Given the description of an element on the screen output the (x, y) to click on. 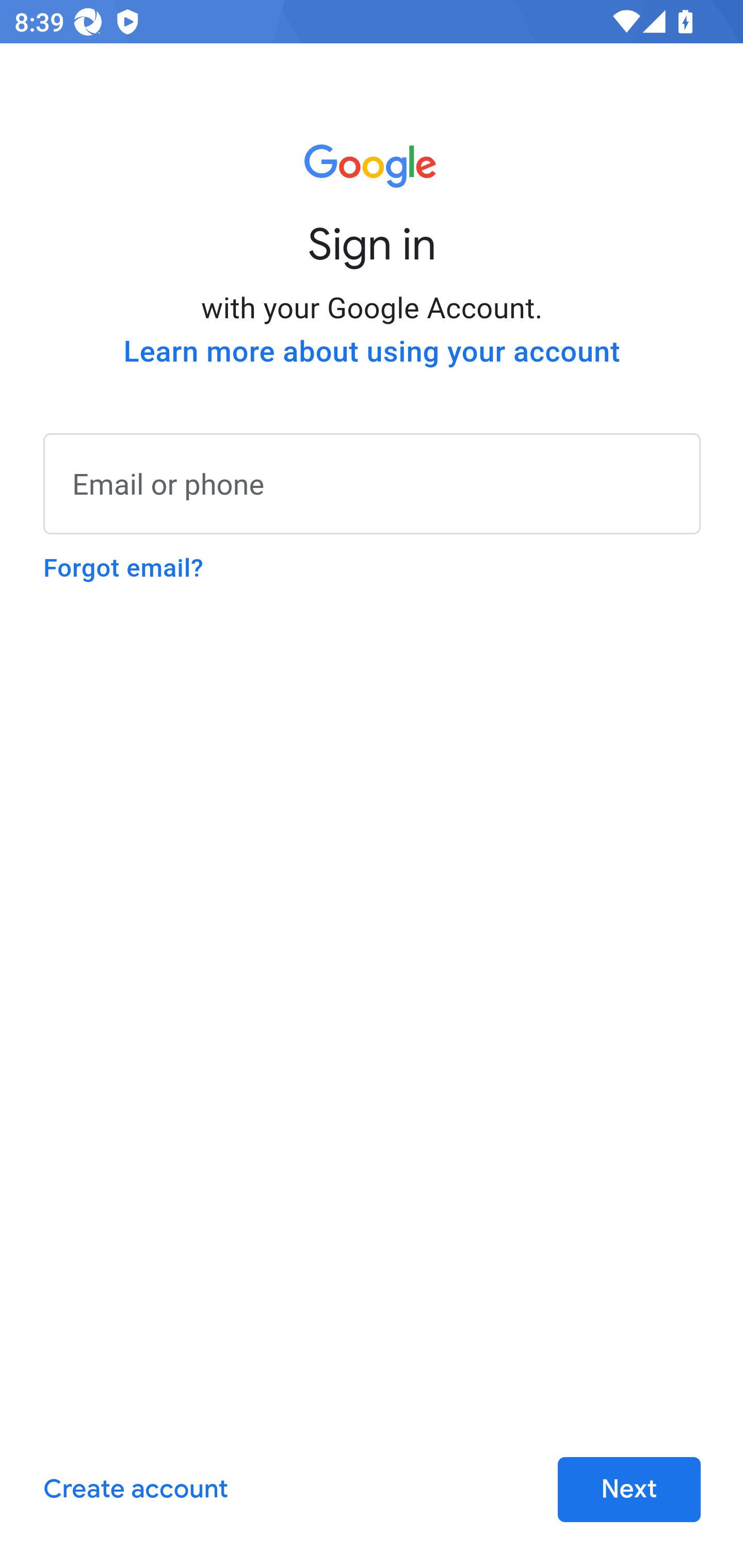
Learn more about using your account (371, 351)
Forgot email? (123, 568)
Create account (134, 1490)
Next (629, 1490)
